Given the description of an element on the screen output the (x, y) to click on. 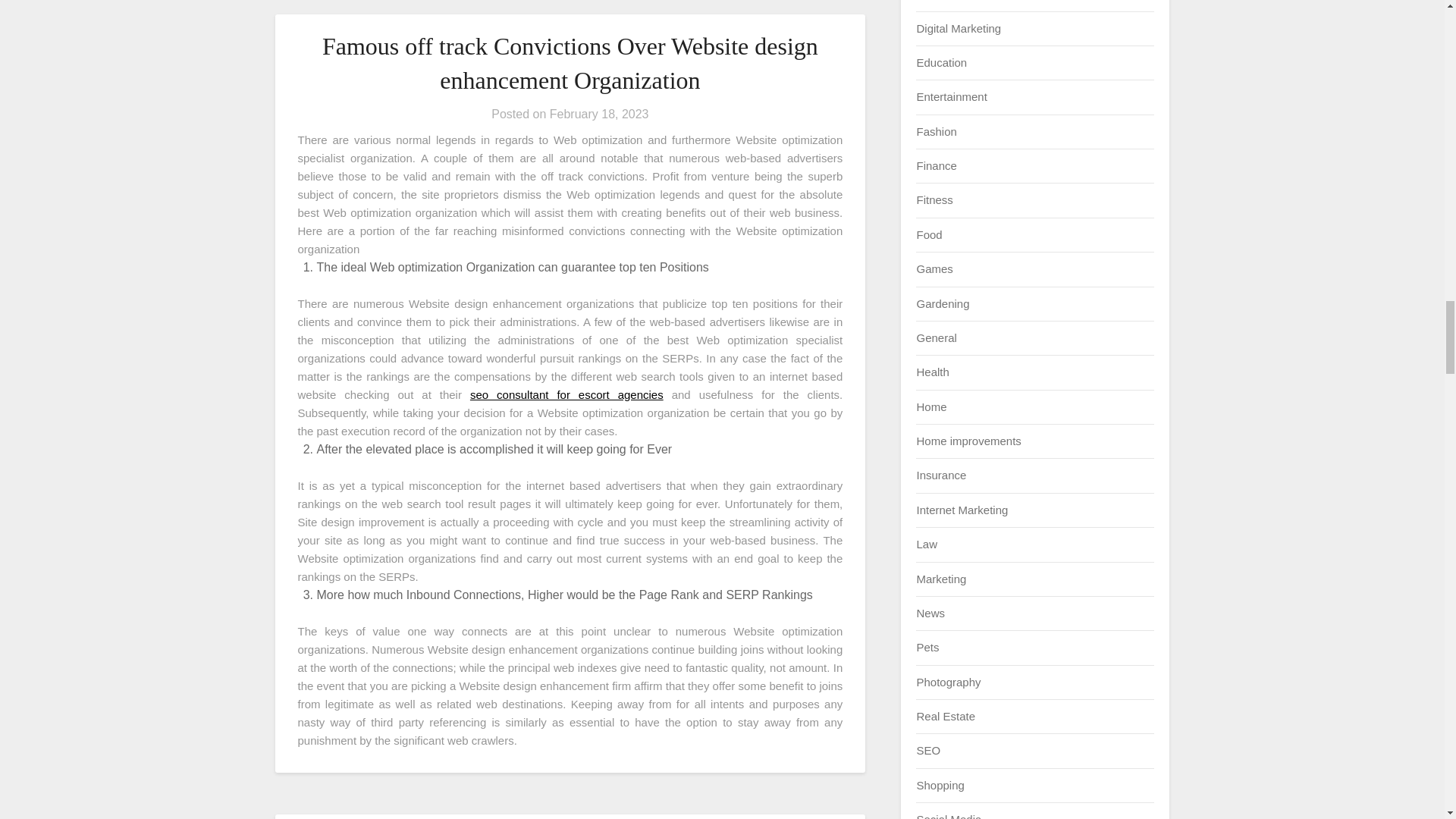
seo consultant for escort agencies (566, 394)
February 18, 2023 (599, 113)
